Given the description of an element on the screen output the (x, y) to click on. 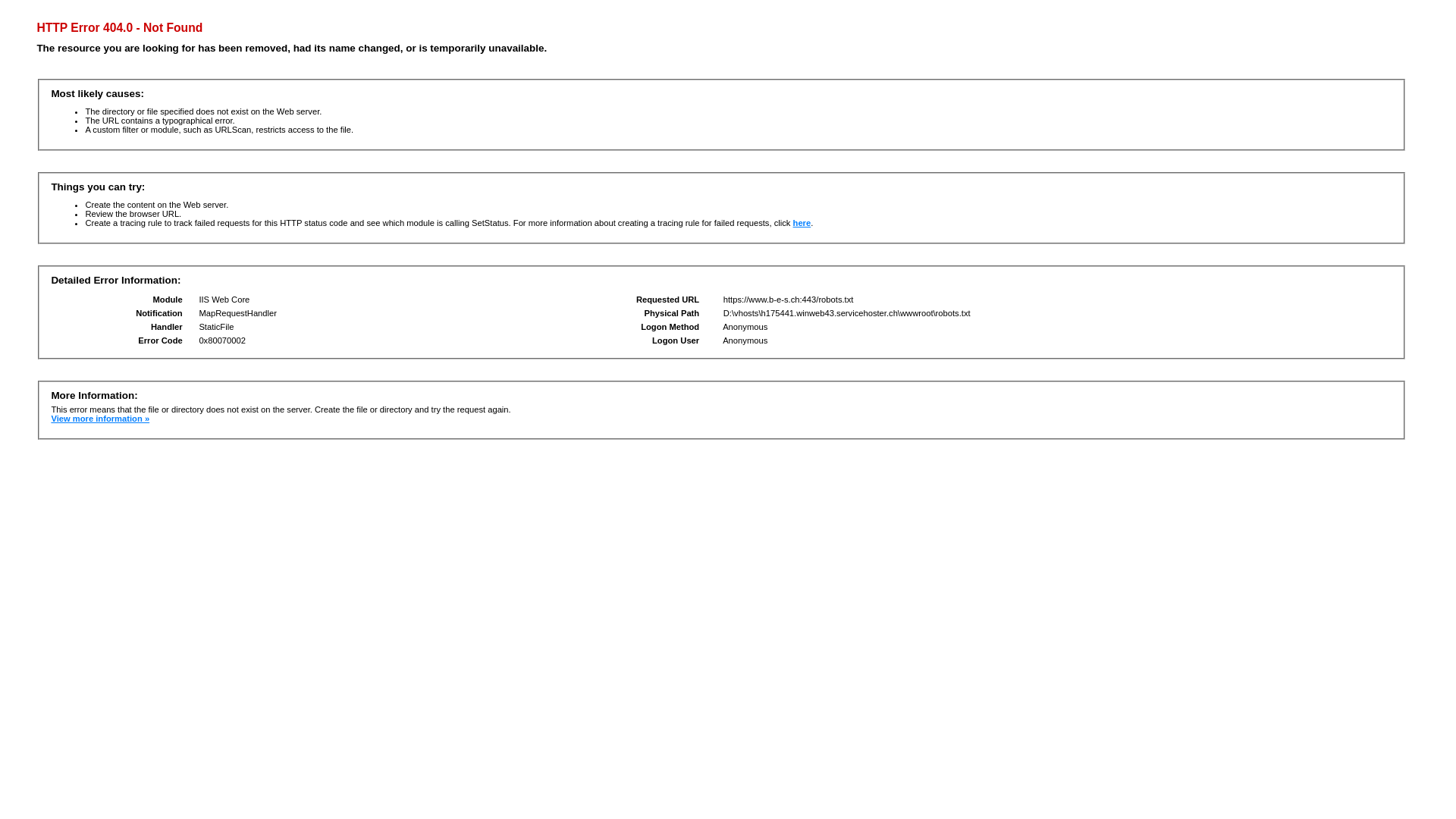
here Element type: text (802, 222)
